Given the description of an element on the screen output the (x, y) to click on. 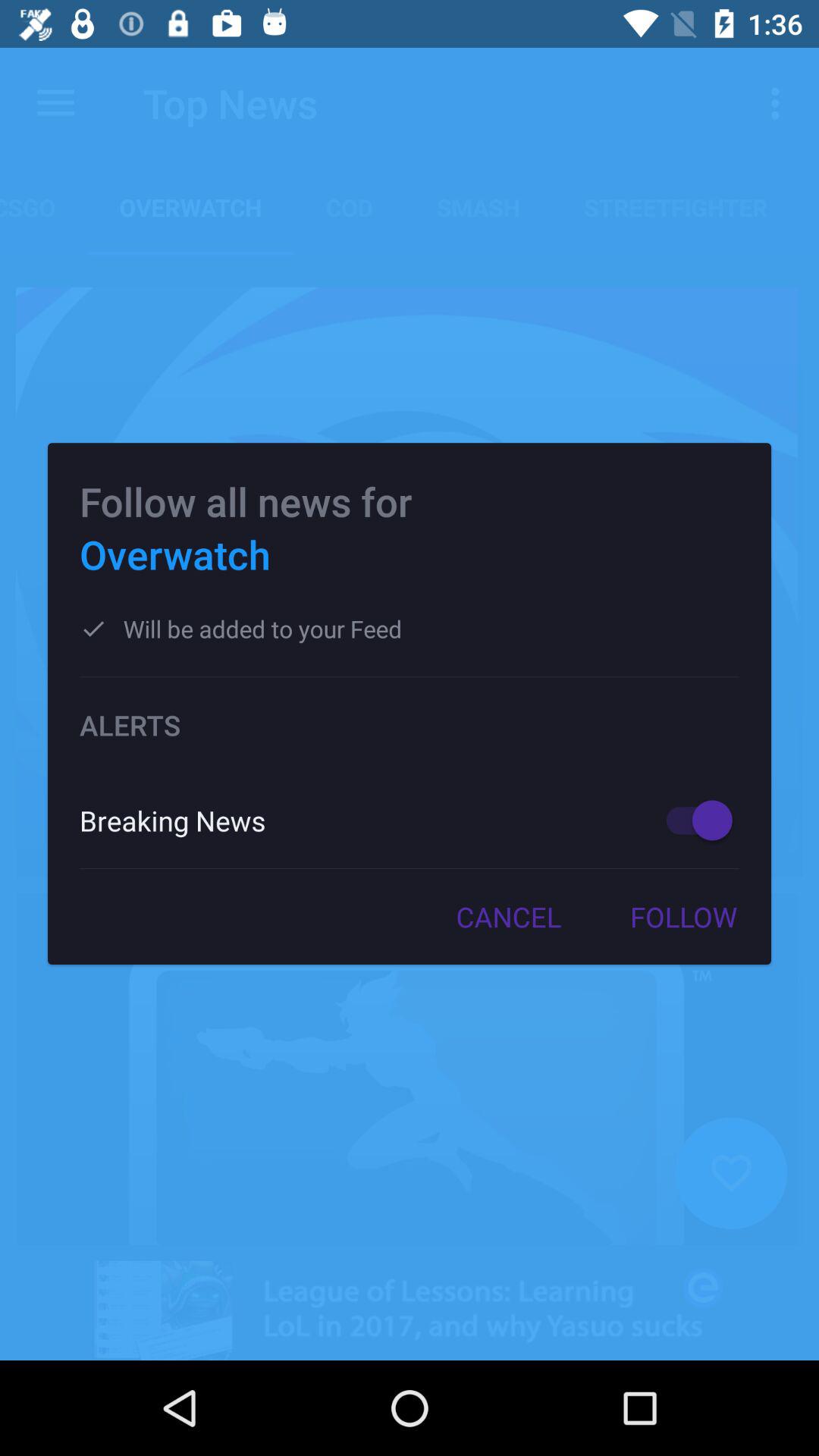
turn off item below alerts icon (356, 820)
